Given the description of an element on the screen output the (x, y) to click on. 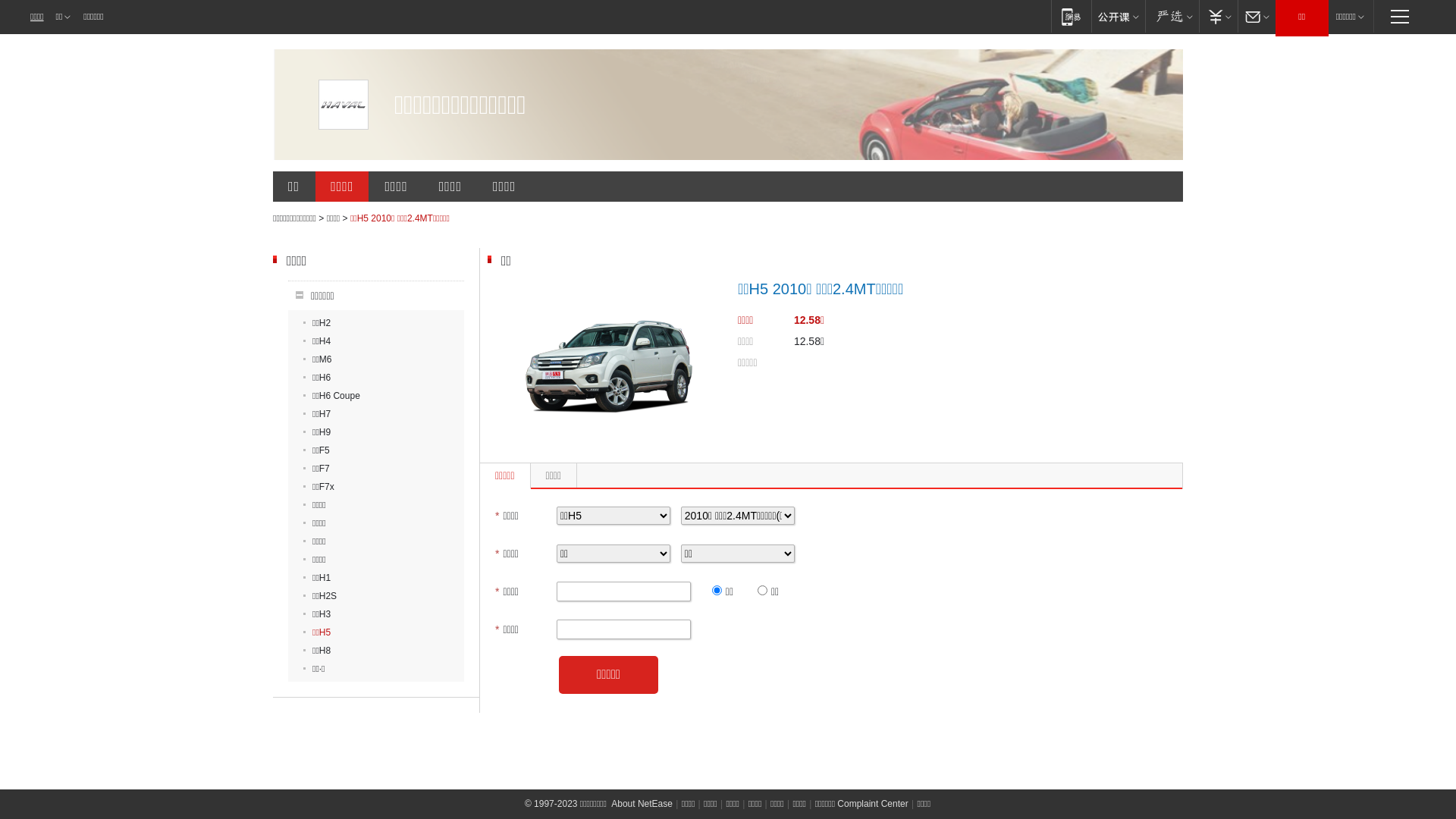
About NetEase Element type: text (641, 803)
